Given the description of an element on the screen output the (x, y) to click on. 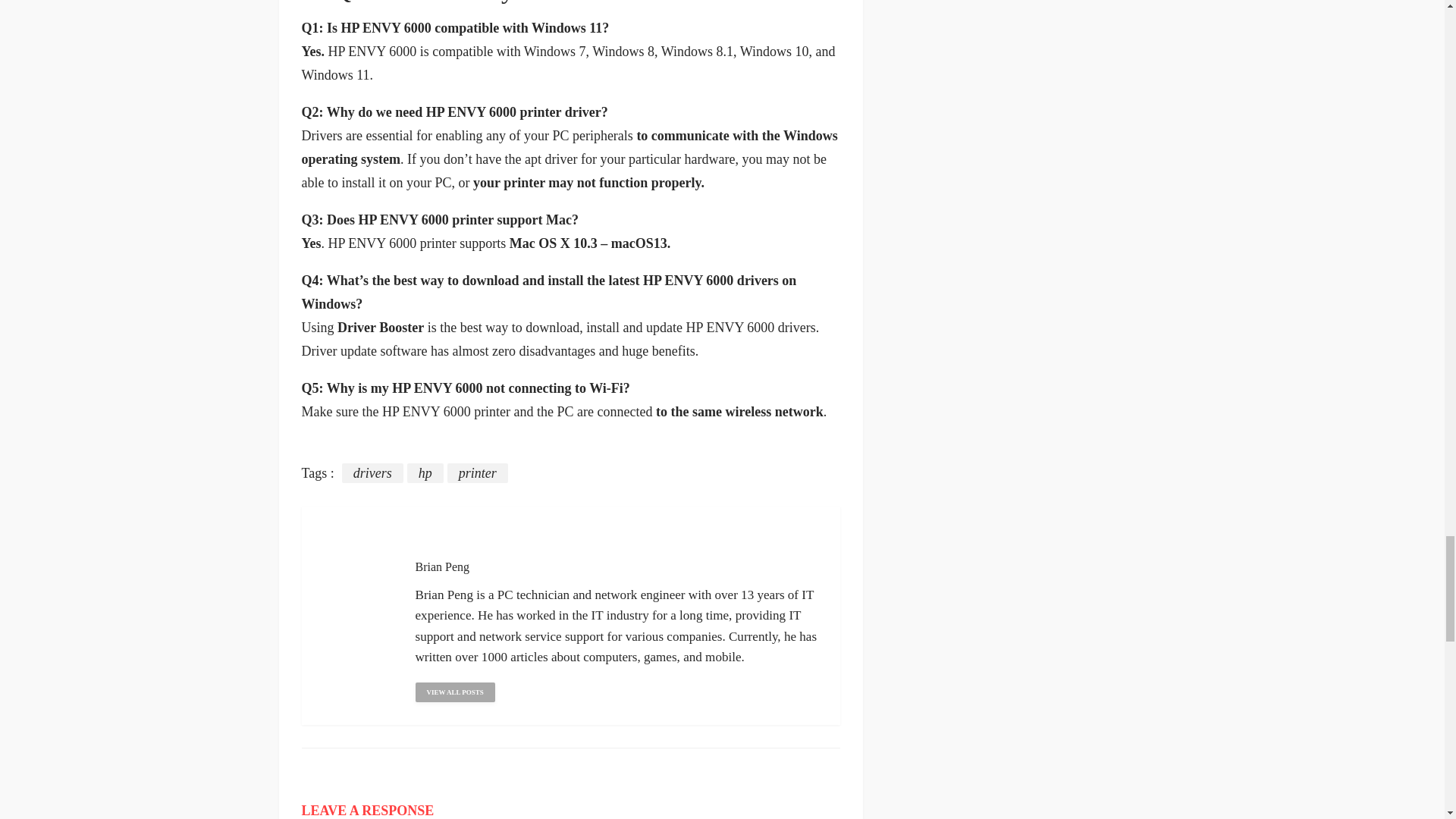
printer (477, 473)
hp (425, 473)
drivers (372, 473)
